Given the description of an element on the screen output the (x, y) to click on. 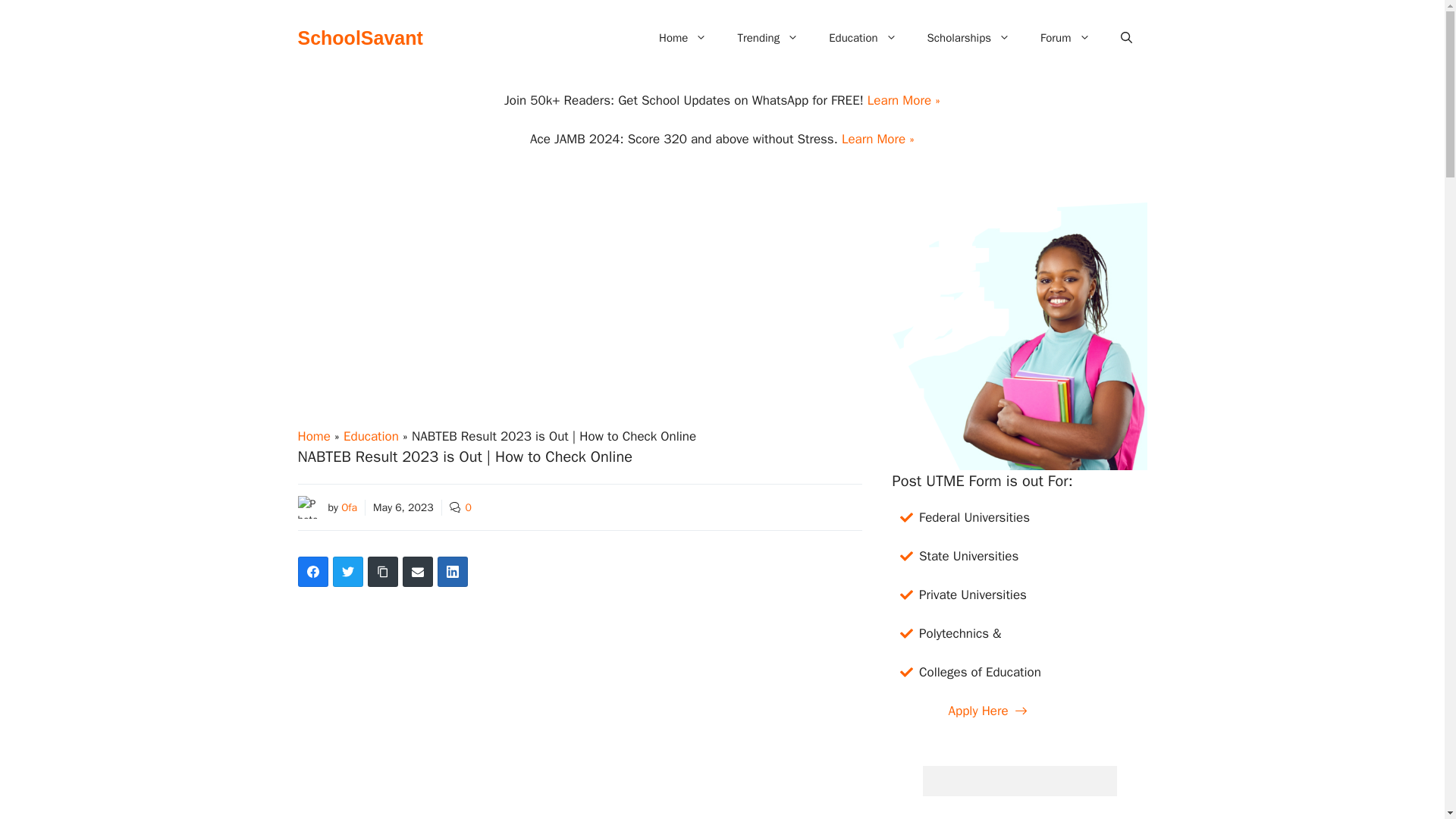
Forum (1065, 37)
Education (370, 435)
Trending (767, 37)
SchoolSavant (359, 37)
Scholarships (968, 37)
Advertisement (579, 717)
Advertisement (579, 314)
Education (862, 37)
Home (682, 37)
Ofa (348, 506)
